Given the description of an element on the screen output the (x, y) to click on. 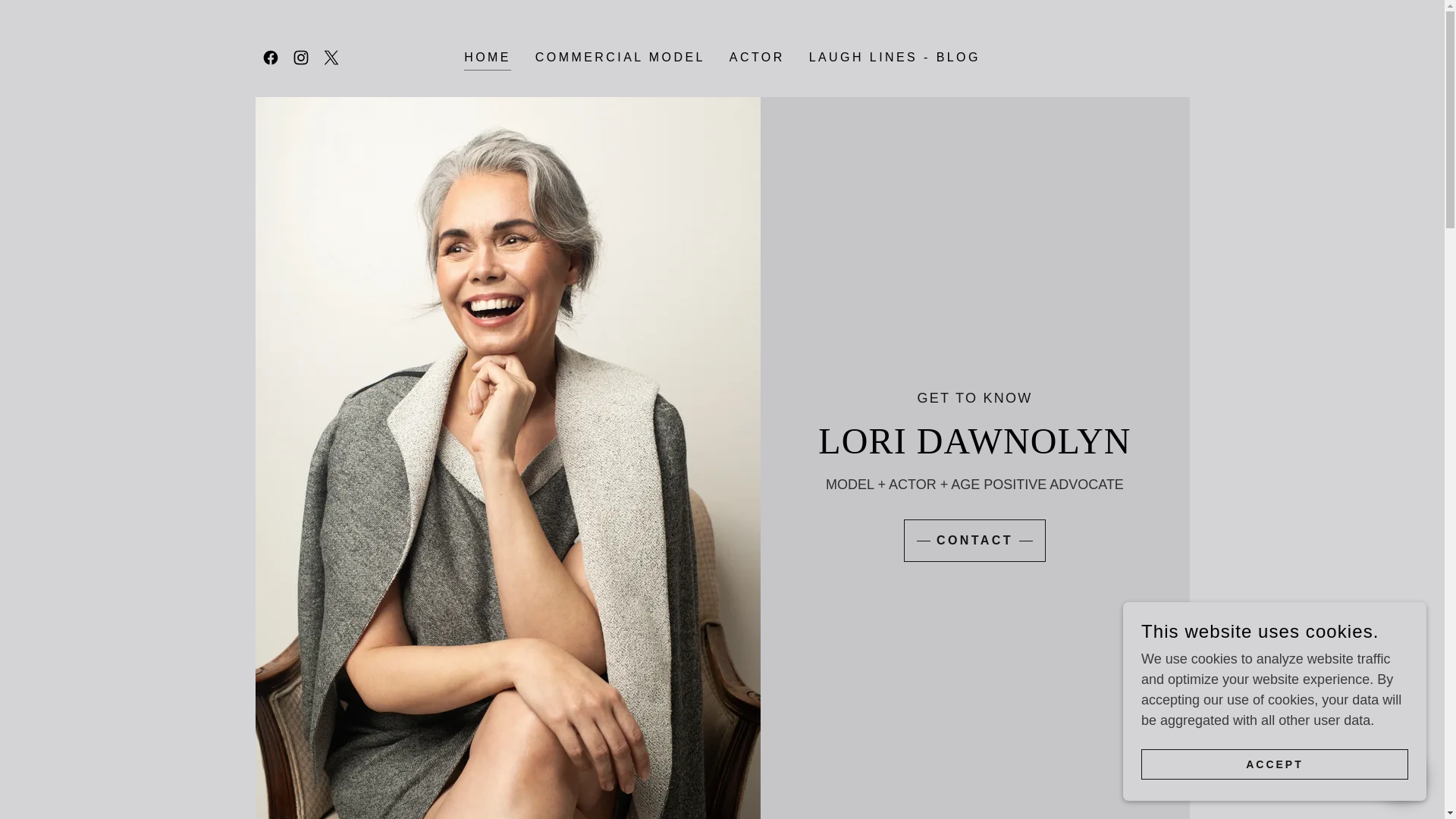
HOME (487, 59)
LAUGH LINES - BLOG (895, 57)
ACTOR (757, 57)
ACCEPT (1274, 764)
COMMERCIAL MODEL (620, 57)
CONTACT (974, 540)
